Given the description of an element on the screen output the (x, y) to click on. 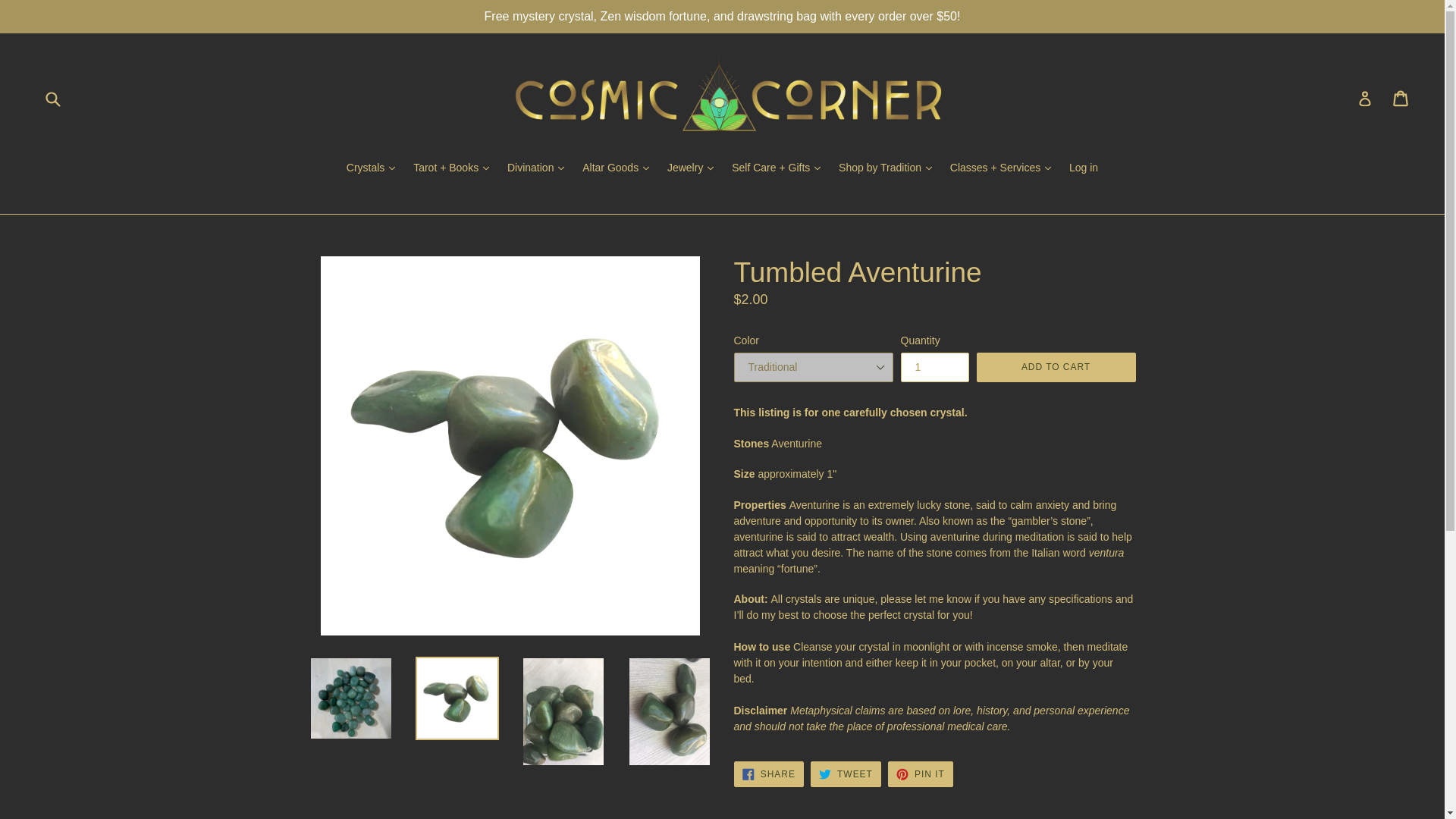
Tweet on Twitter (845, 774)
Share on Facebook (768, 774)
1 (935, 367)
Pin on Pinterest (920, 774)
